Given the description of an element on the screen output the (x, y) to click on. 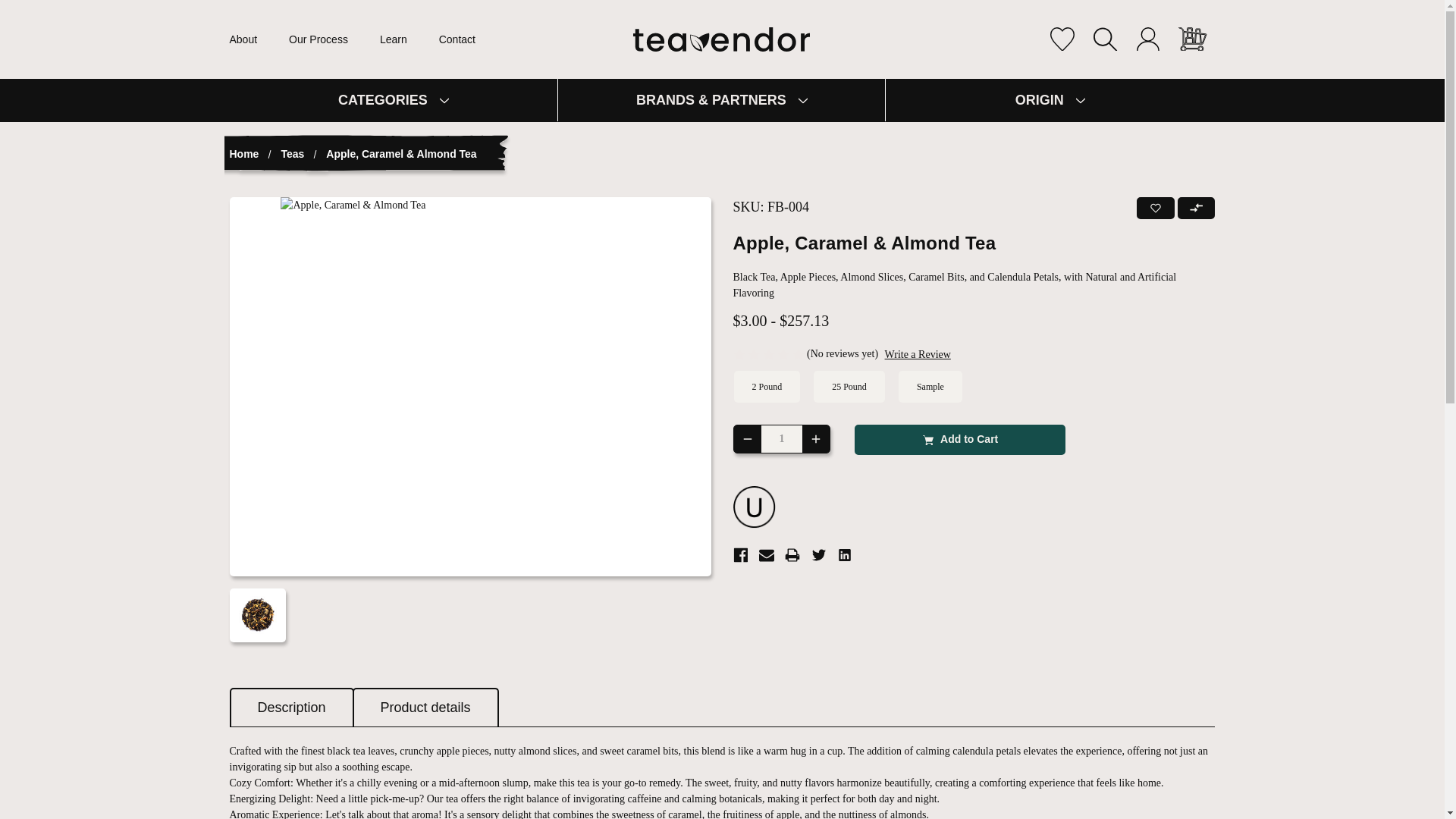
1 (782, 439)
CATEGORIES (392, 99)
TeaVendor (721, 39)
Favorites (1061, 38)
Our Process (317, 39)
